Given the description of an element on the screen output the (x, y) to click on. 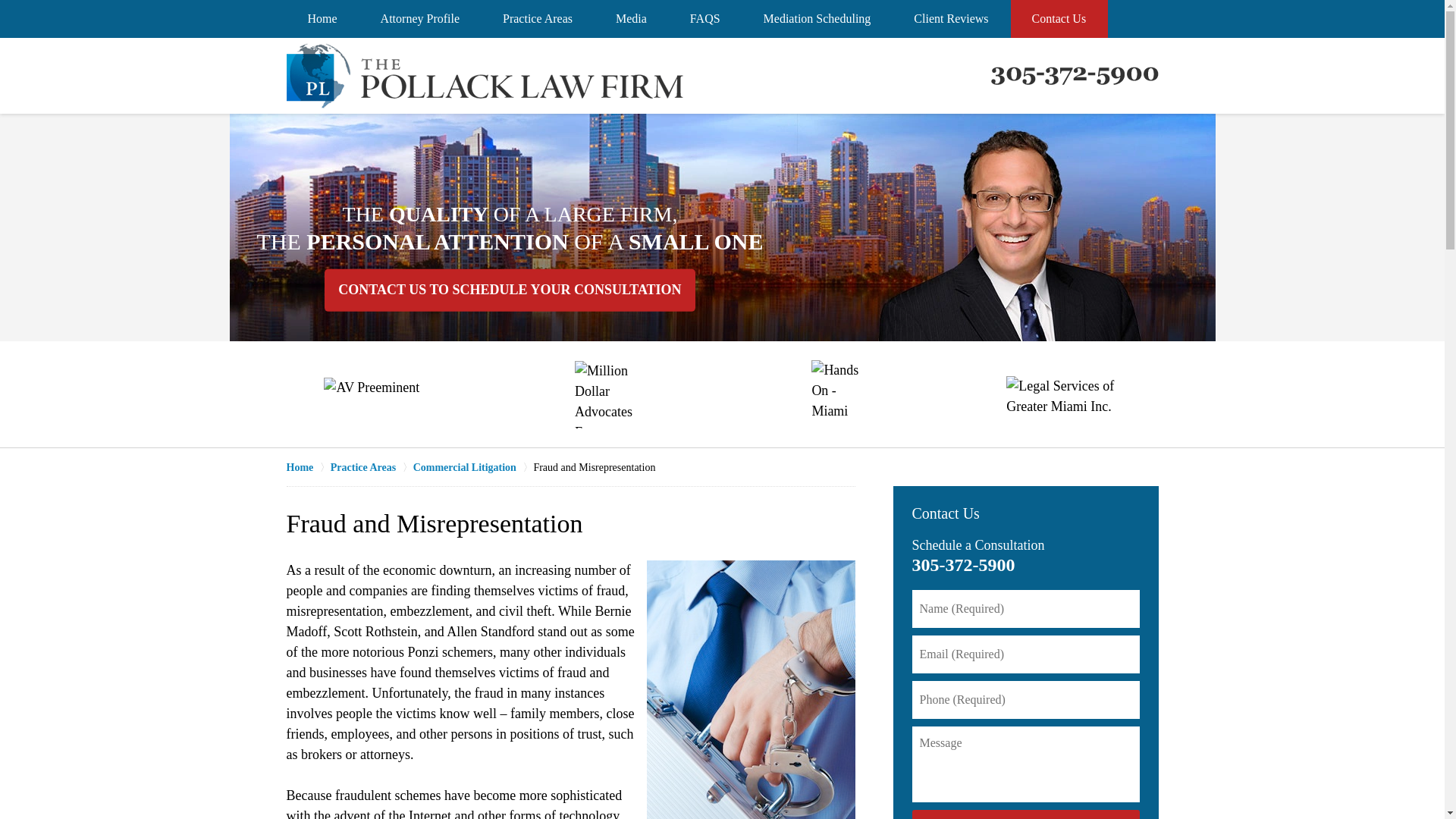
Practice Areas (537, 18)
CONTACT US TO SCHEDULE YOUR CONSULTATION (509, 290)
SUBMIT (1024, 814)
Media (631, 18)
Practice Areas (371, 467)
Mediation Scheduling (817, 18)
Back to Home (484, 75)
Attorney Profile (420, 18)
Commercial Litigation (473, 467)
